Given the description of an element on the screen output the (x, y) to click on. 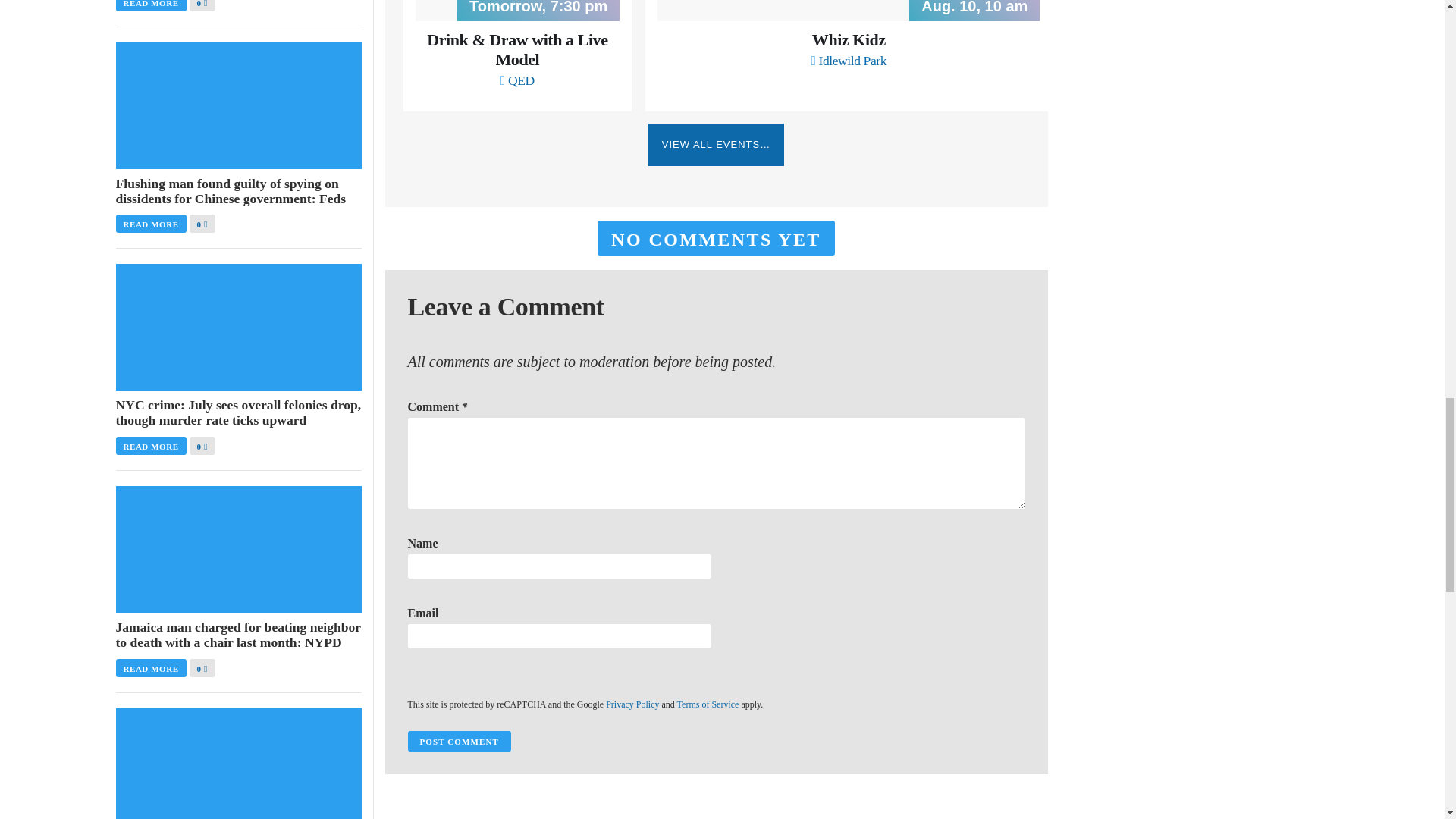
Post Comment (459, 741)
